Given the description of an element on the screen output the (x, y) to click on. 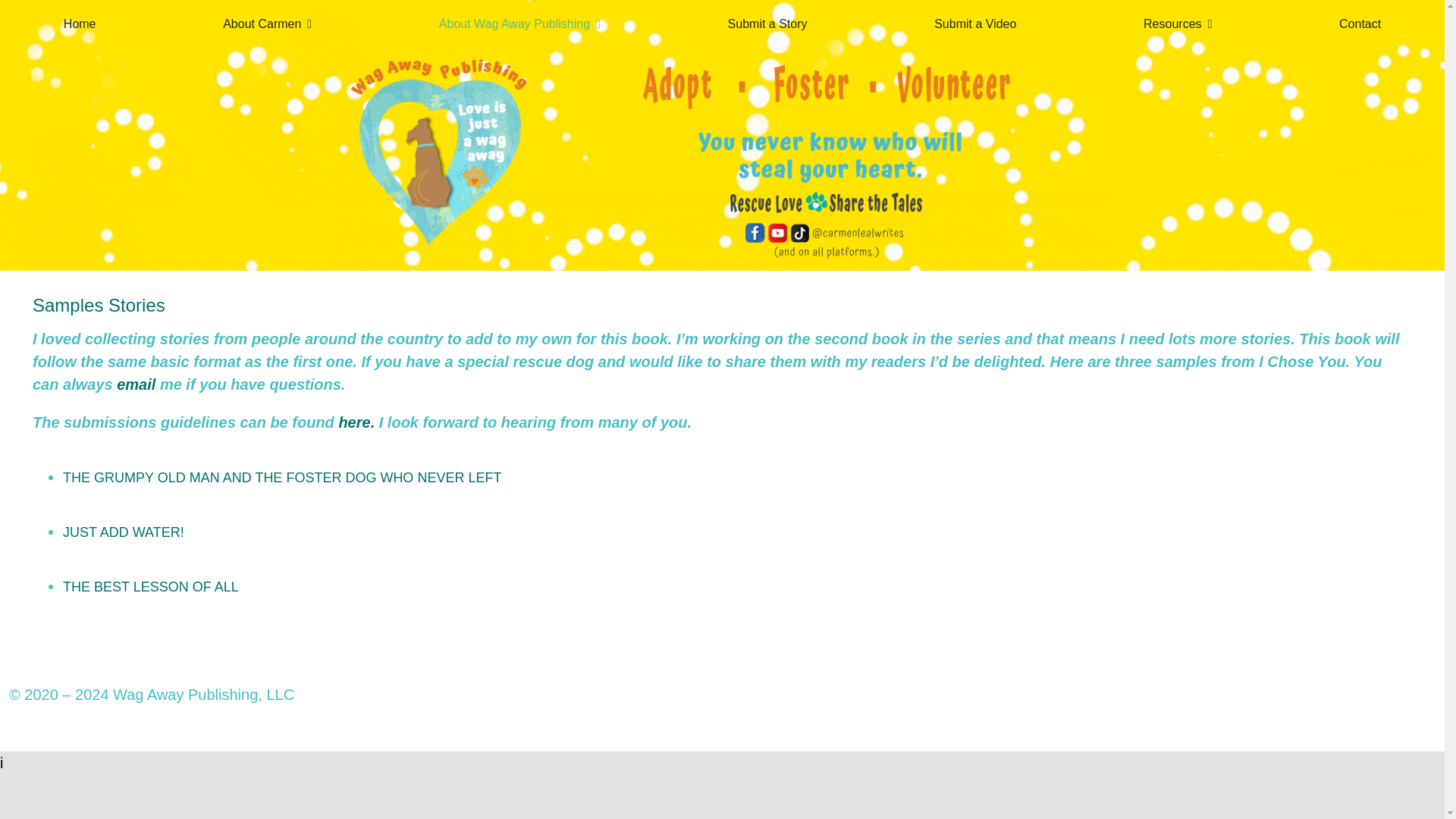
Contact (1359, 24)
JUST ADD WATER! (123, 531)
About Wag Away Publishing (519, 24)
Submit a Video (975, 24)
Submit a Story (768, 24)
THE BEST LESSON OF ALL (150, 586)
Home (80, 24)
here. (355, 422)
About Carmen (266, 24)
THE GRUMPY OLD MAN AND THE FOSTER DOG WHO NEVER LEFT (281, 477)
